Given the description of an element on the screen output the (x, y) to click on. 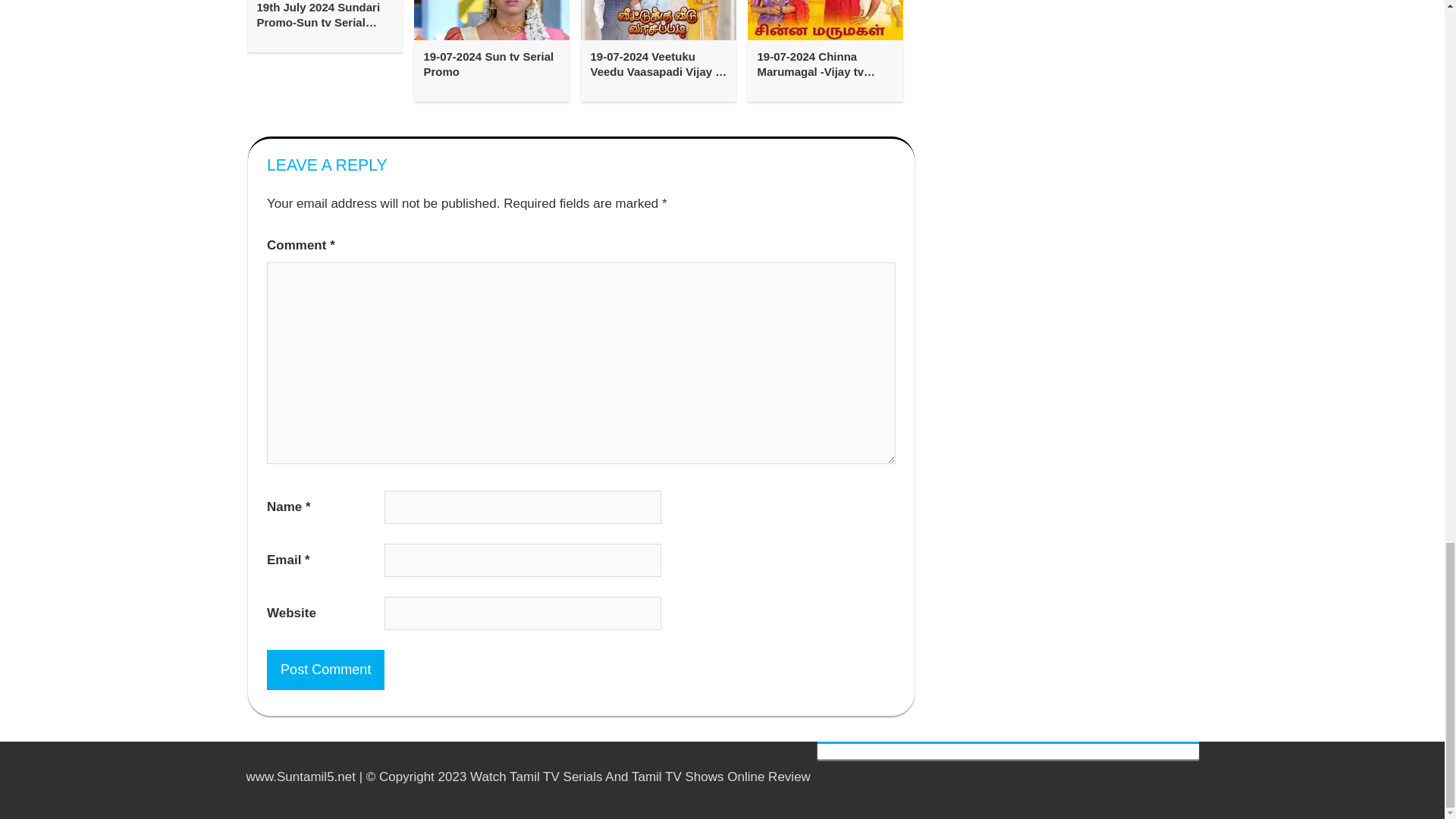
Post Comment (325, 670)
Sun tv Serial Promo (491, 20)
19th July 2024 Sundari Promo-Sun tv Serial Promo (324, 15)
19-07-2024 Veetuku Veedu Vaasapadi Vijay tv Serial (657, 64)
19-07-2024 Veetuku Veedu Vaasapadi Vijay tv Serial (657, 64)
19-07-2024 Chinna Marumagal -Vijay tv Serial (825, 64)
19th July 2024 Sundari Promo-Sun tv Serial Promo (324, 15)
19-07-2024 Sun tv Serial Promo (491, 64)
19-07-2024 Chinna Marumagal -Vijay tv Serial (825, 64)
19-07-2024 Sun tv Serial Promo (491, 64)
Post Comment (325, 670)
